Given the description of an element on the screen output the (x, y) to click on. 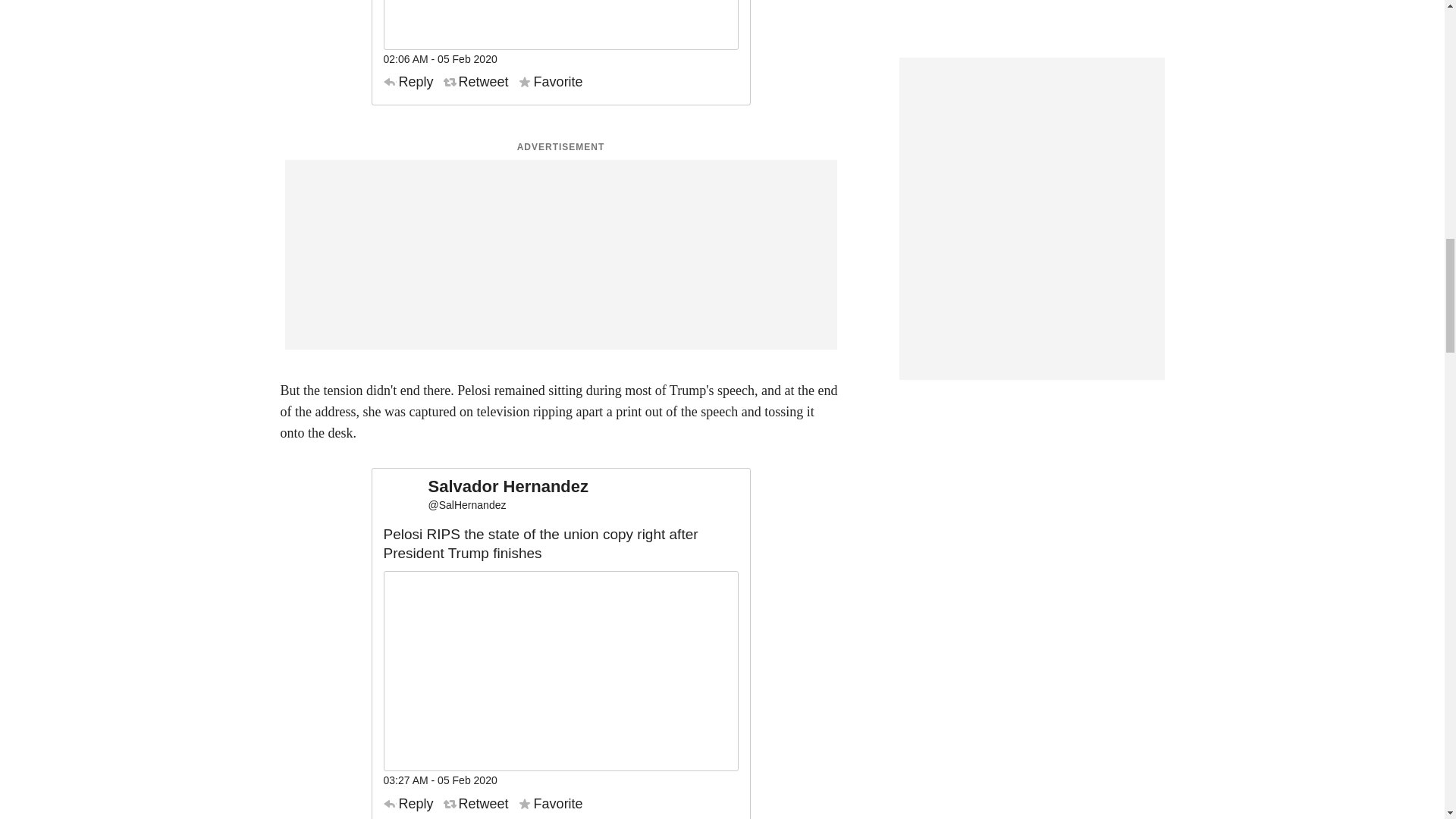
Salvador Hernandez (508, 486)
Reply (408, 81)
Favorite (550, 81)
Favorite (550, 803)
02:06 AM - 05 Feb 2020 (440, 59)
Retweet (476, 81)
03:27 AM - 05 Feb 2020 (440, 779)
Reply (408, 803)
Retweet (476, 803)
